Given the description of an element on the screen output the (x, y) to click on. 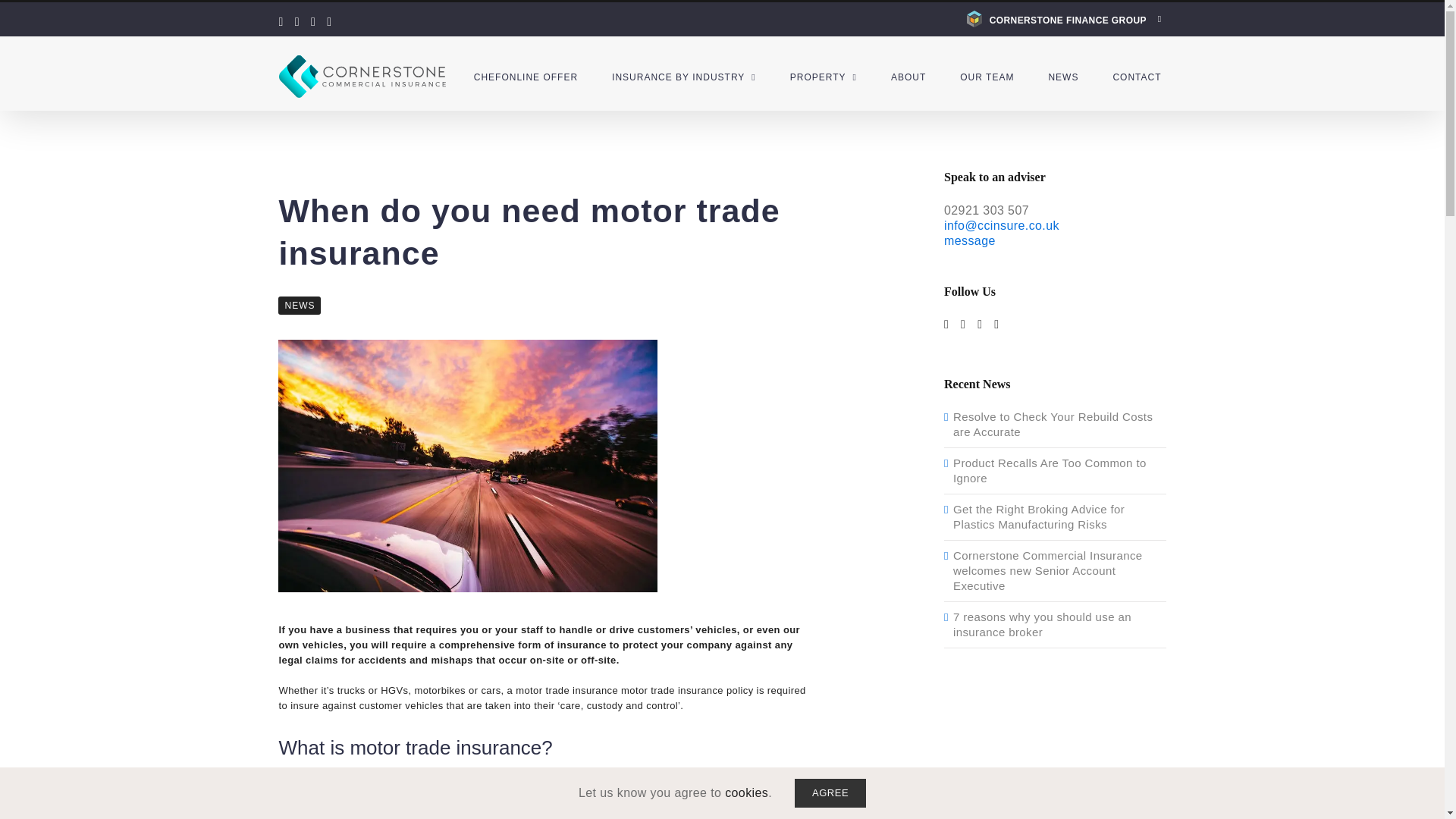
PROPERTY (823, 76)
moto trade insurance (468, 465)
CHEFONLINE OFFER (526, 76)
CORNERSTONE FINANCE GROUP (1063, 19)
